Given the description of an element on the screen output the (x, y) to click on. 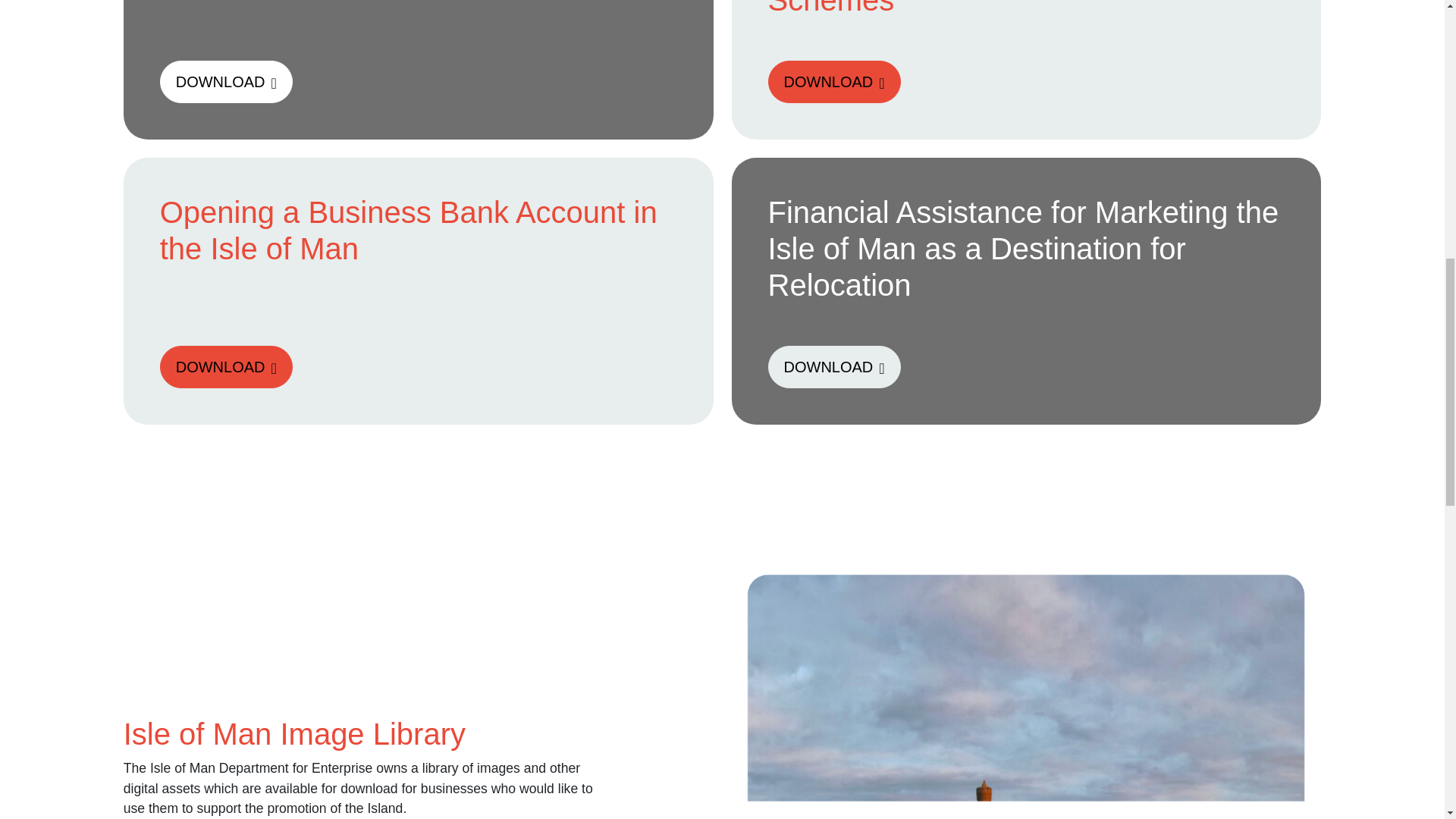
DOWNLOAD (226, 366)
DOWNLOAD (226, 81)
DOWNLOAD (833, 366)
DOWNLOAD (833, 81)
